Given the description of an element on the screen output the (x, y) to click on. 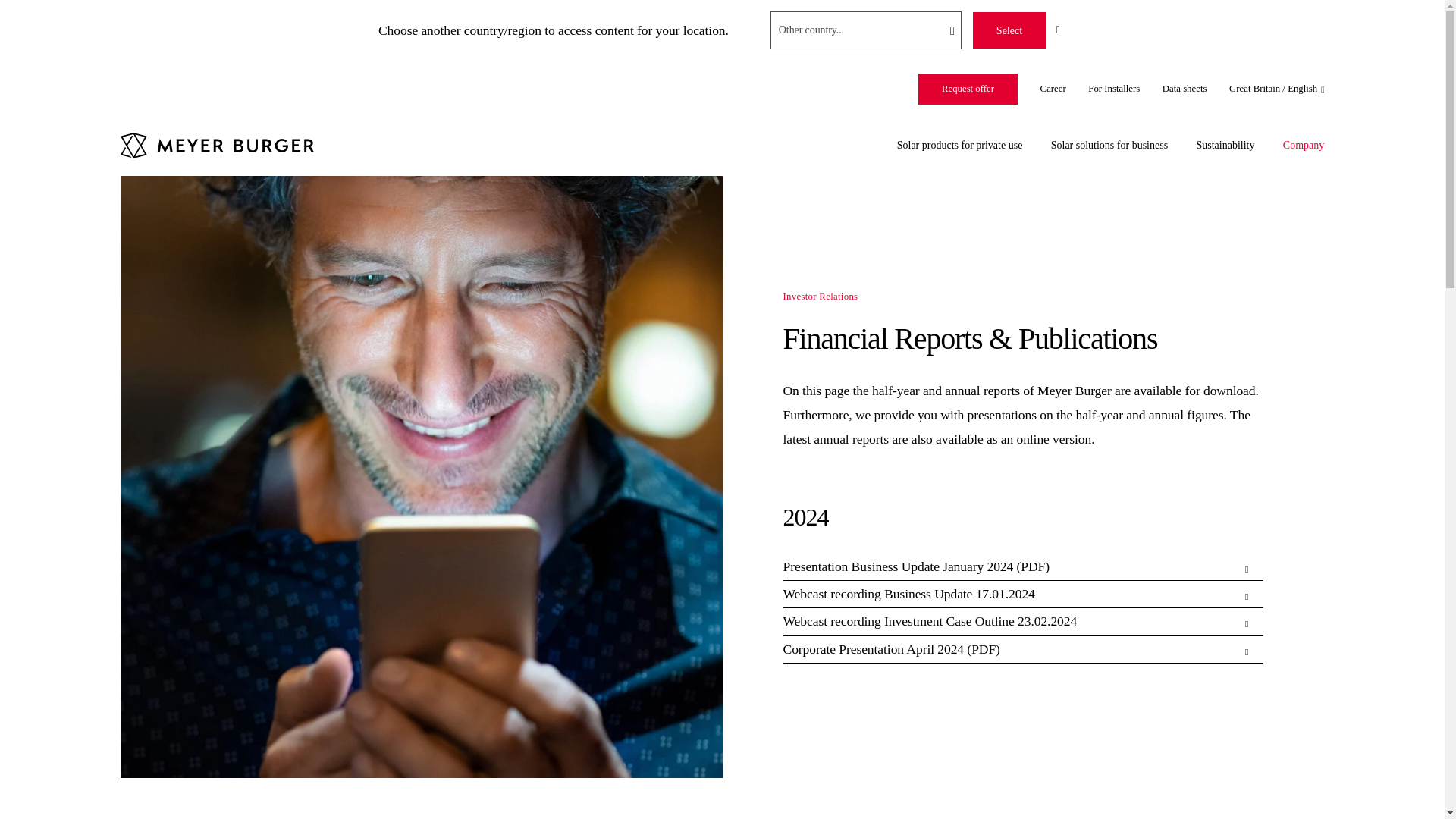
Select (1008, 30)
Sustainability (1224, 144)
For Installers (1113, 88)
Company (1302, 144)
Career (1053, 88)
Data sheets (1184, 88)
SELECT (1008, 30)
Solar solutions for business (1109, 144)
Request offer (967, 88)
Solar products for private use (959, 144)
Meyer Burger Technology AG (217, 145)
